Given the description of an element on the screen output the (x, y) to click on. 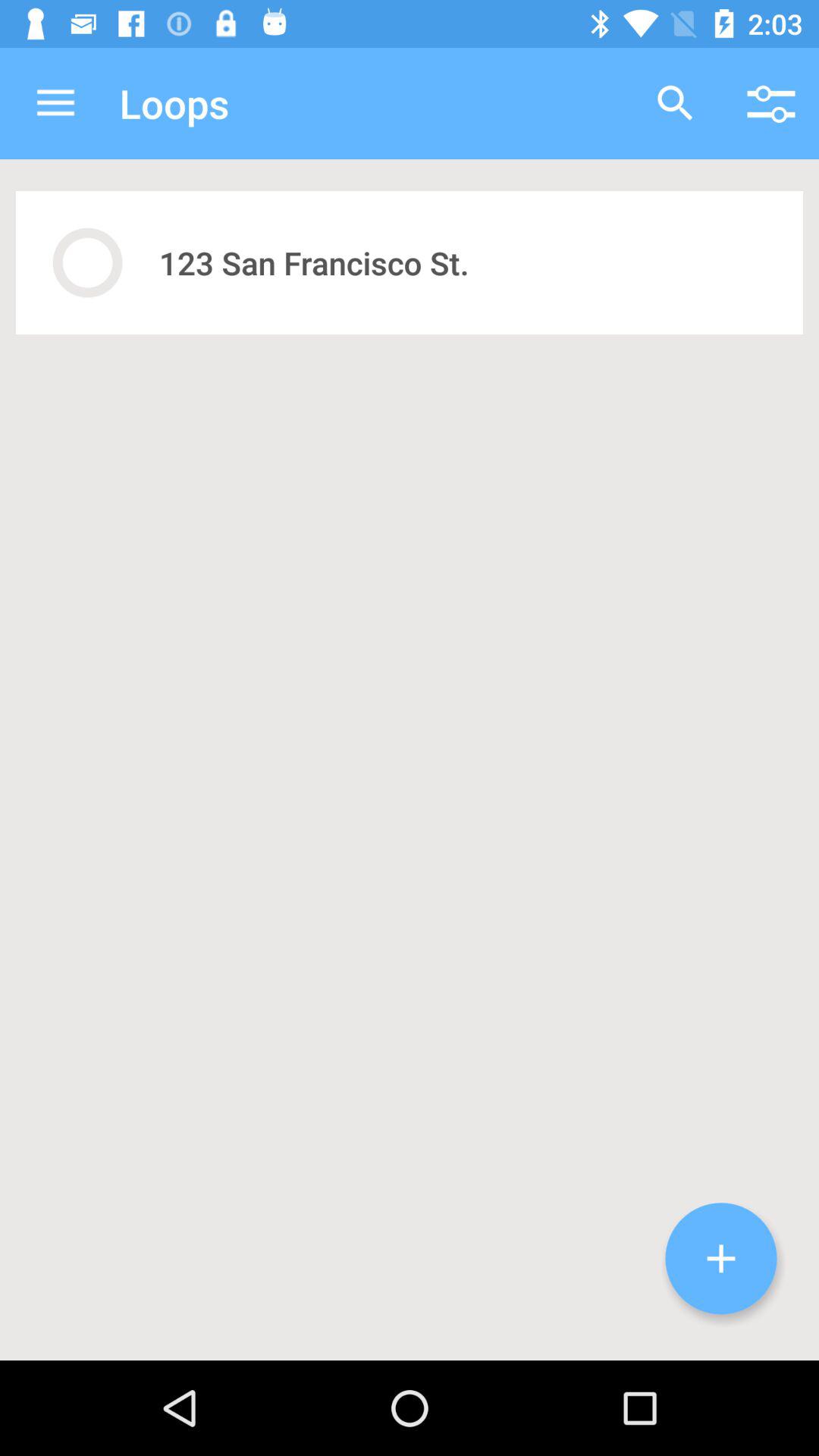
press icon next to loops (675, 103)
